Given the description of an element on the screen output the (x, y) to click on. 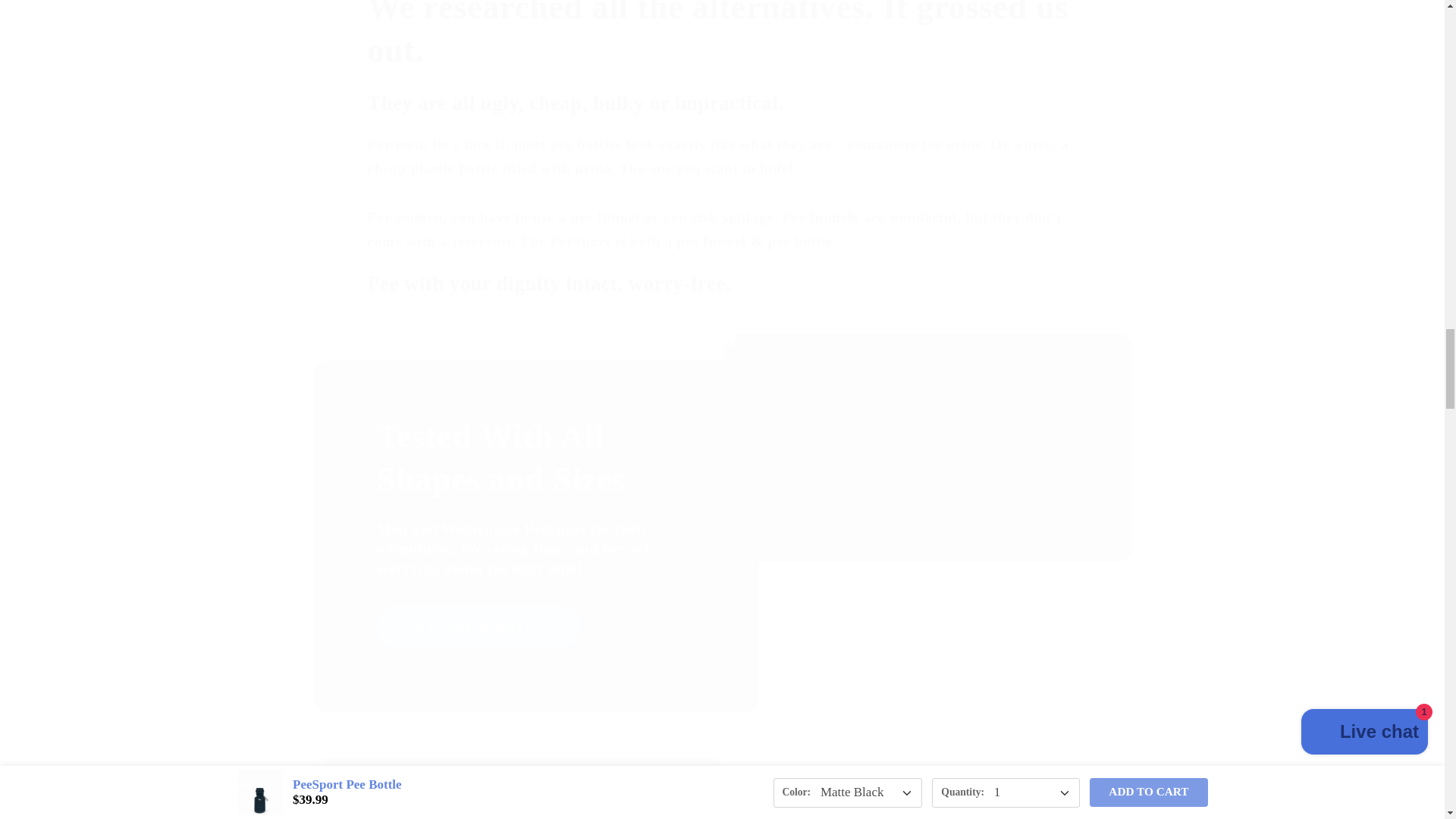
We researched all the alternatives. It grossed us out. (721, 36)
